Given the description of an element on the screen output the (x, y) to click on. 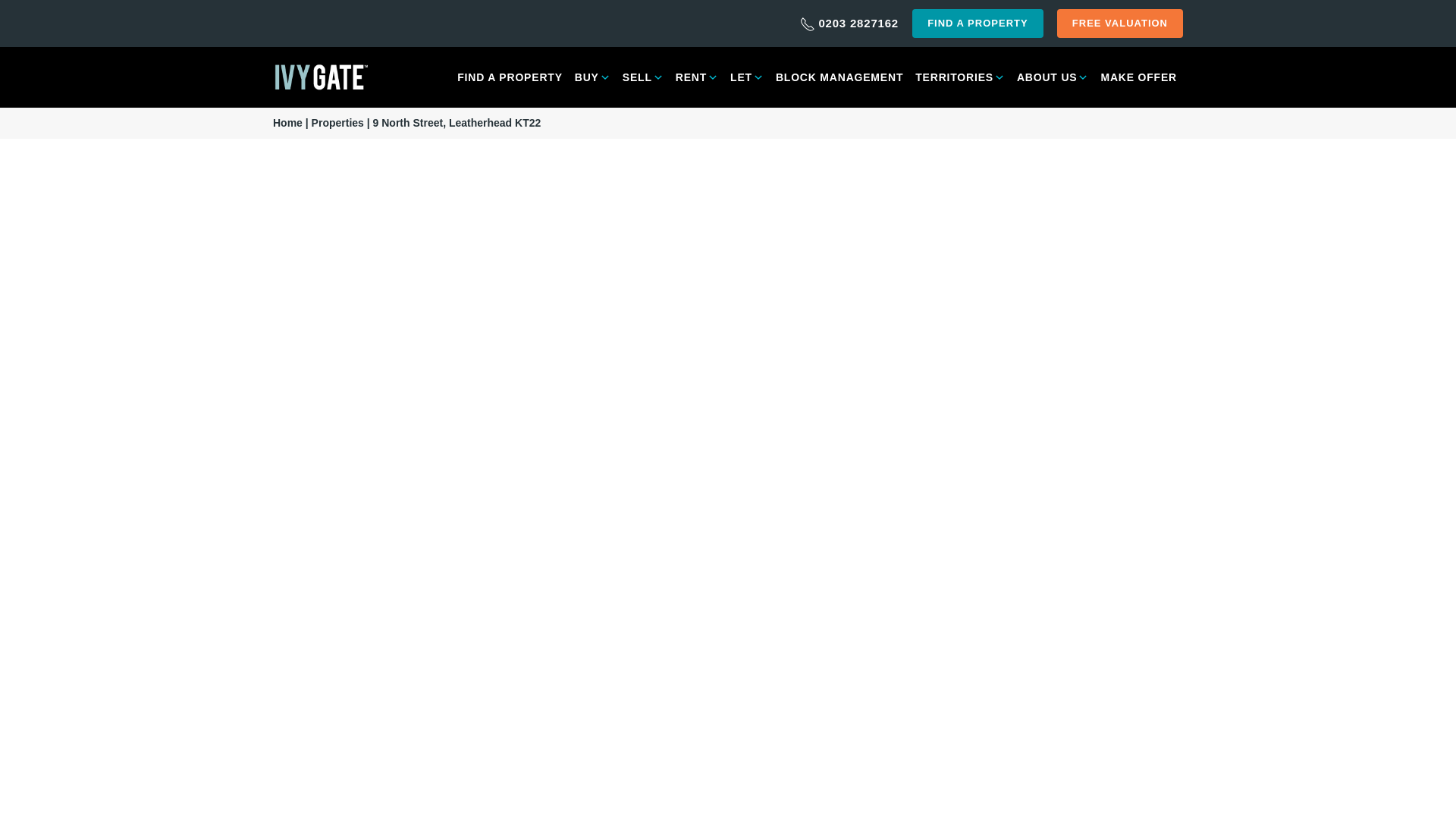
FREE VALUATION (1119, 23)
0203 2827162 (848, 22)
FIND A PROPERTY (977, 23)
FIND A PROPERTY (509, 76)
